Given the description of an element on the screen output the (x, y) to click on. 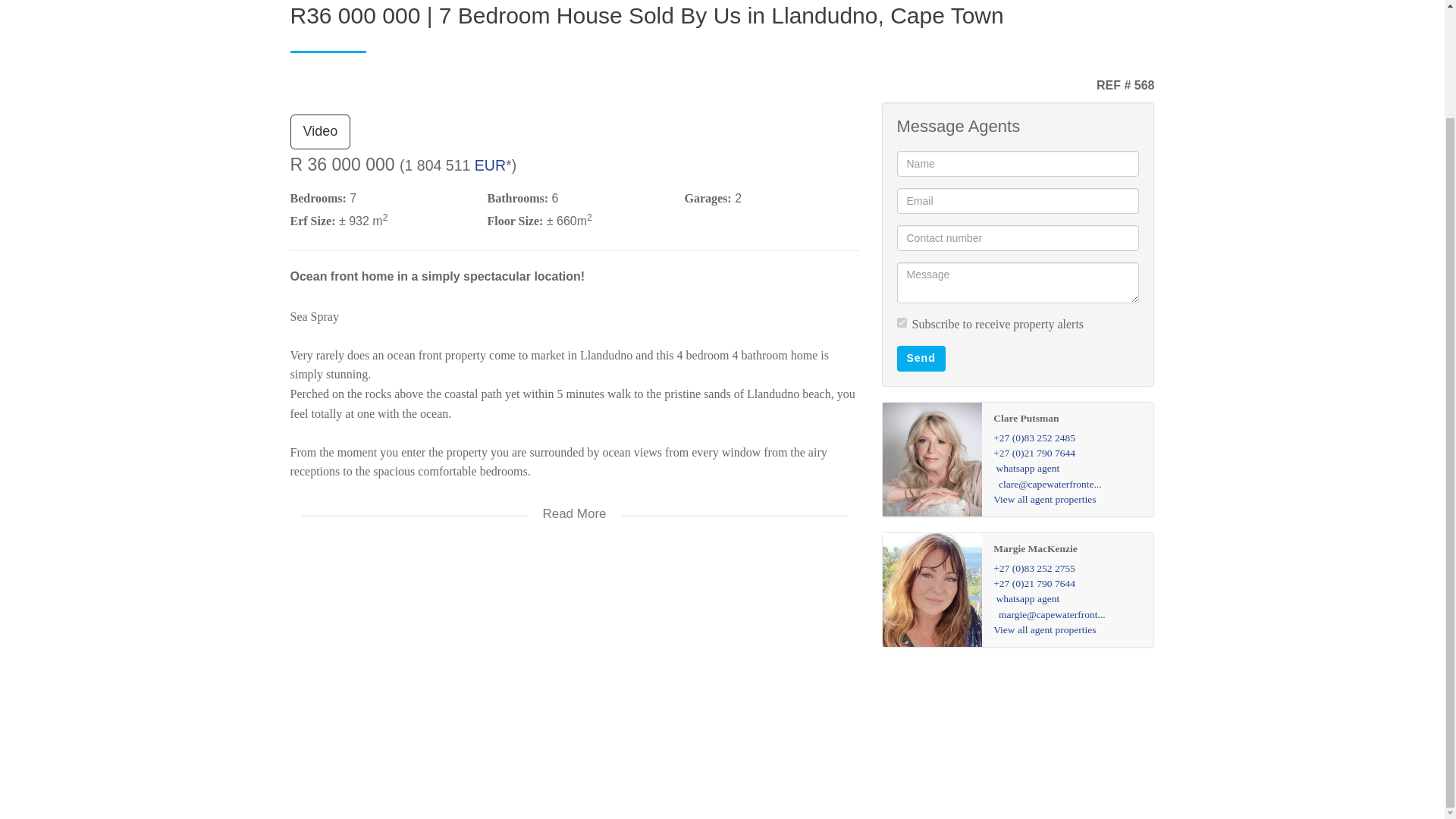
google map (574, 667)
on (900, 322)
Read More (574, 504)
